Given the description of an element on the screen output the (x, y) to click on. 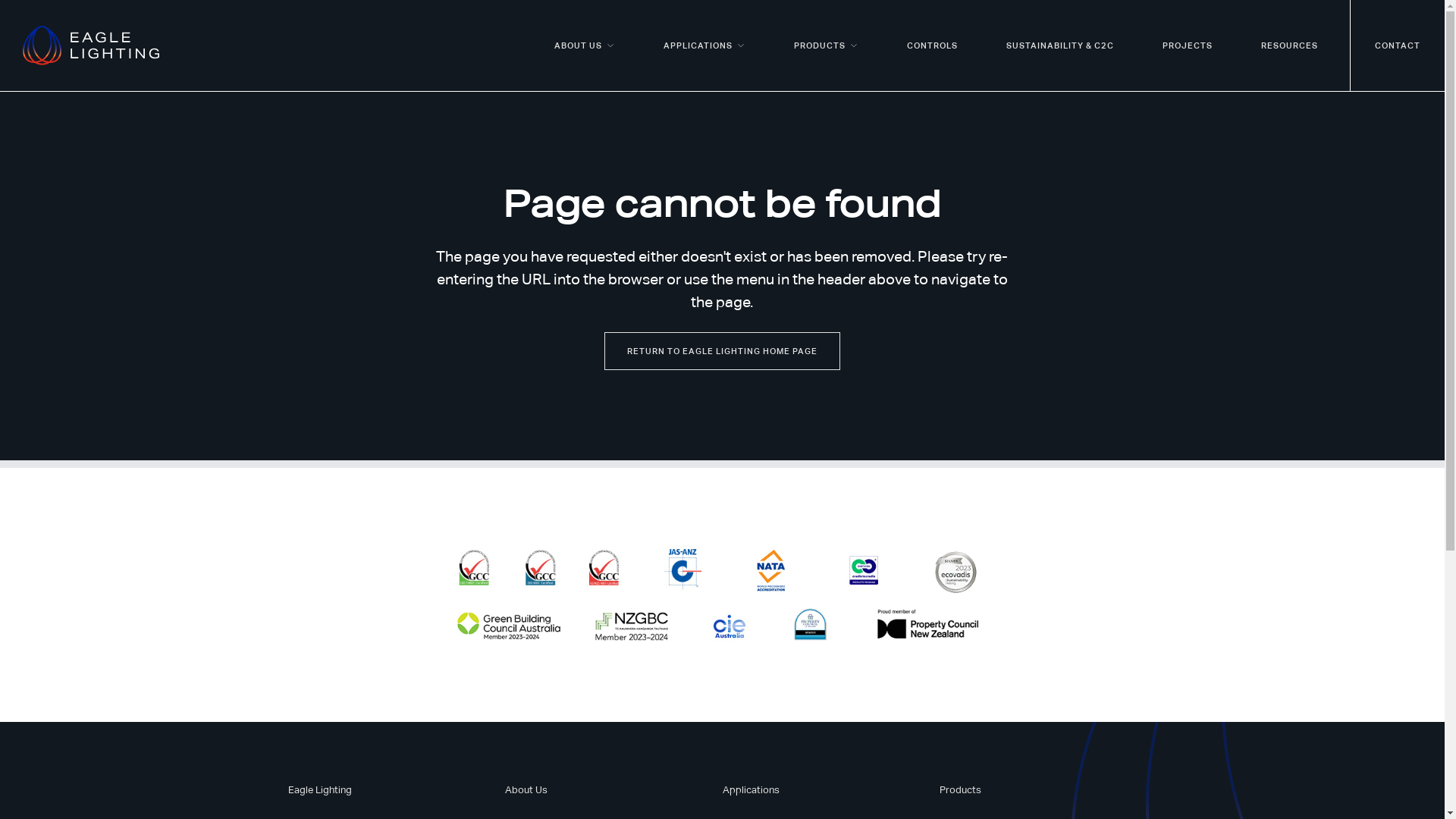
CONTACT Element type: text (1397, 45)
ABOUT US Element type: text (584, 45)
APPLICATIONS Element type: text (704, 45)
About Us Element type: text (526, 789)
RESOURCES Element type: text (1289, 45)
RETURN TO EAGLE LIGHTING HOME PAGE Element type: text (722, 351)
CONTROLS Element type: text (932, 45)
Products Element type: text (960, 789)
Applications Element type: text (749, 789)
PRODUCTS Element type: text (825, 45)
PROJECTS Element type: text (1187, 45)
Eagle Lighting Element type: text (319, 789)
Eagle Lighting Home Page Element type: hover (90, 45)
SUSTAINABILITY & C2C Element type: text (1060, 45)
